Given the description of an element on the screen output the (x, y) to click on. 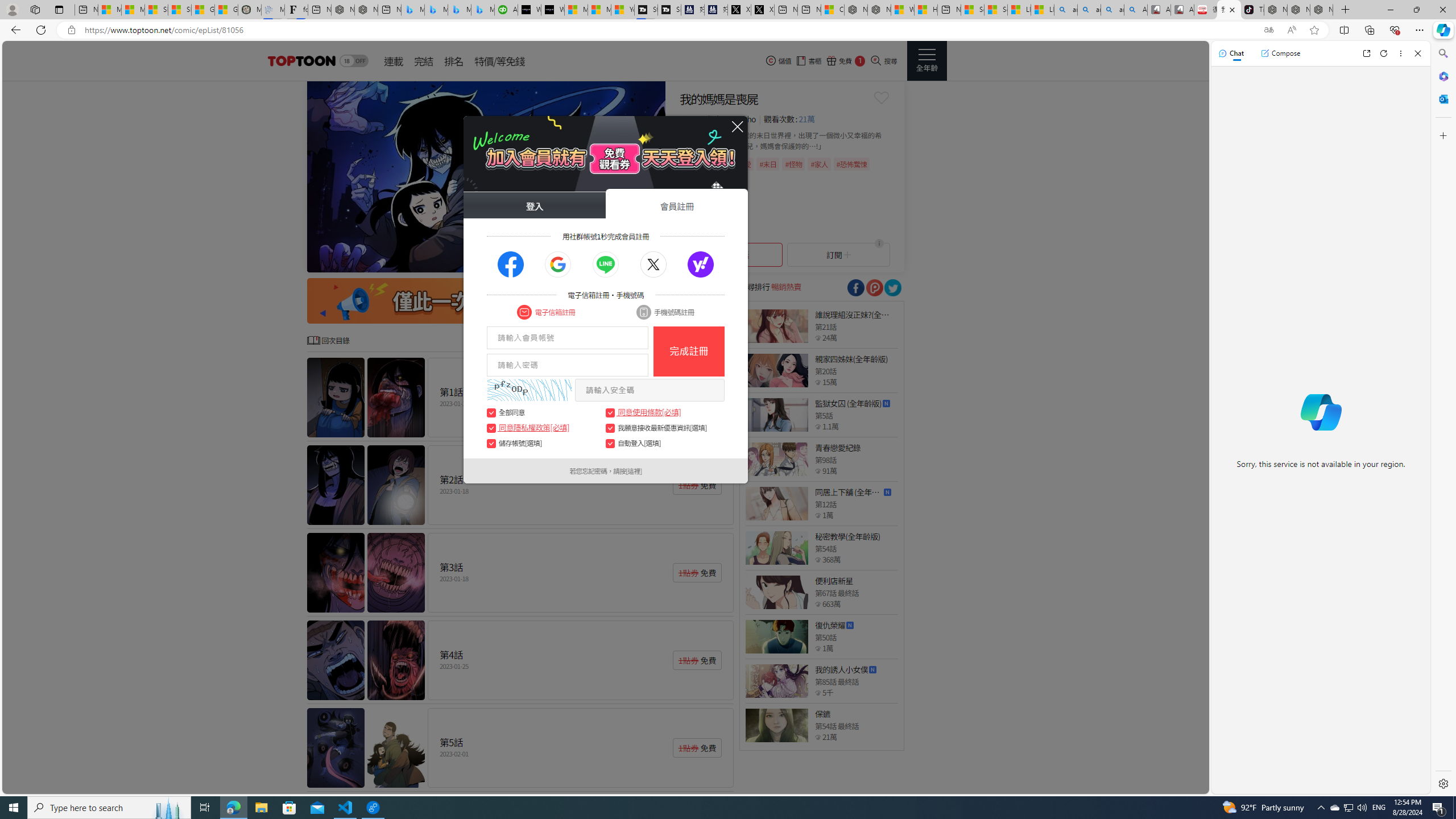
Microsoft Bing Travel - Shangri-La Hotel Bangkok (482, 9)
Class: swiper-slide swiper-slide-active (486, 176)
amazon - Search (1089, 9)
App bar (728, 29)
